Given the description of an element on the screen output the (x, y) to click on. 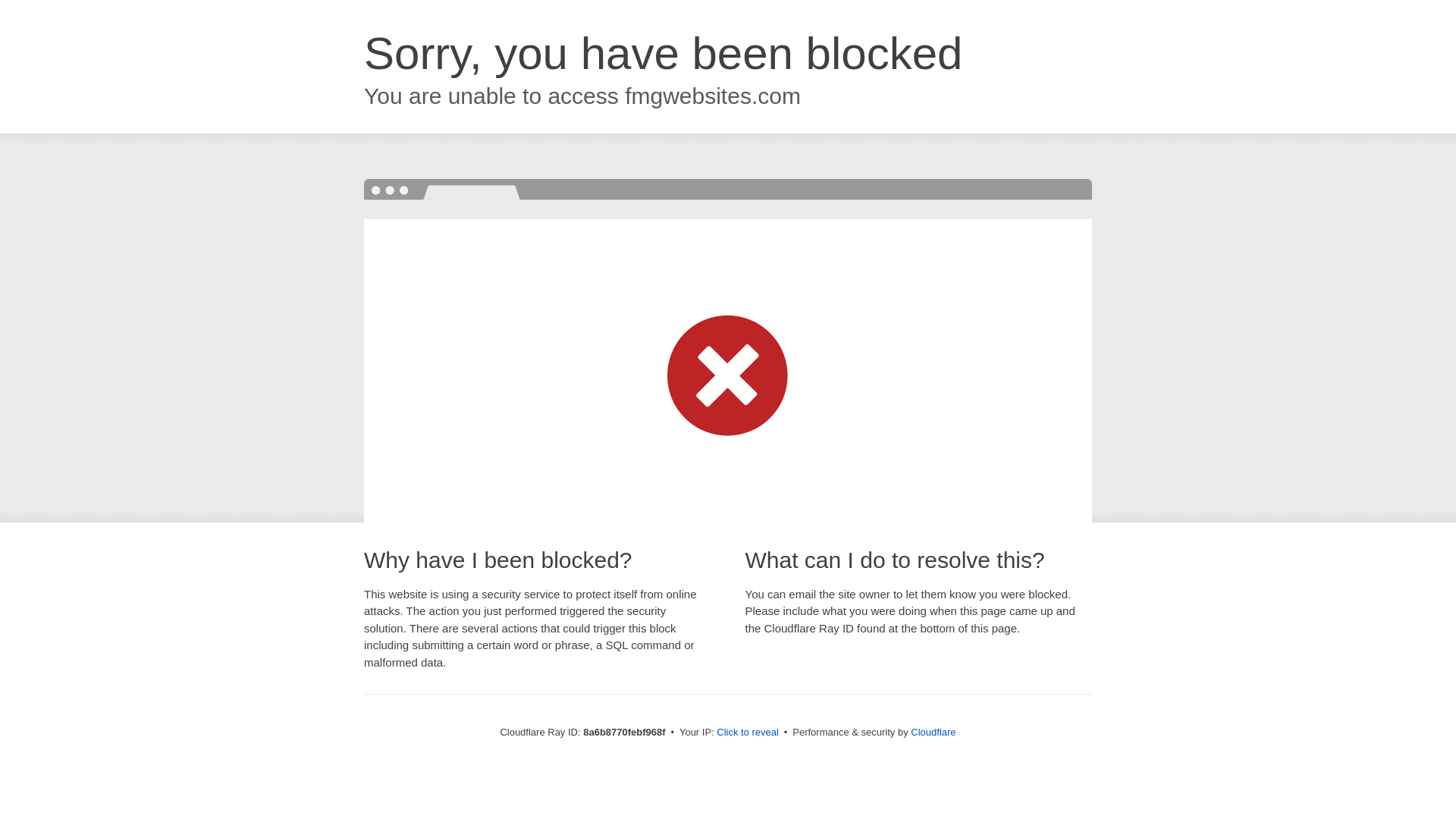
Cloudflare (933, 731)
Click to reveal (747, 732)
